Given the description of an element on the screen output the (x, y) to click on. 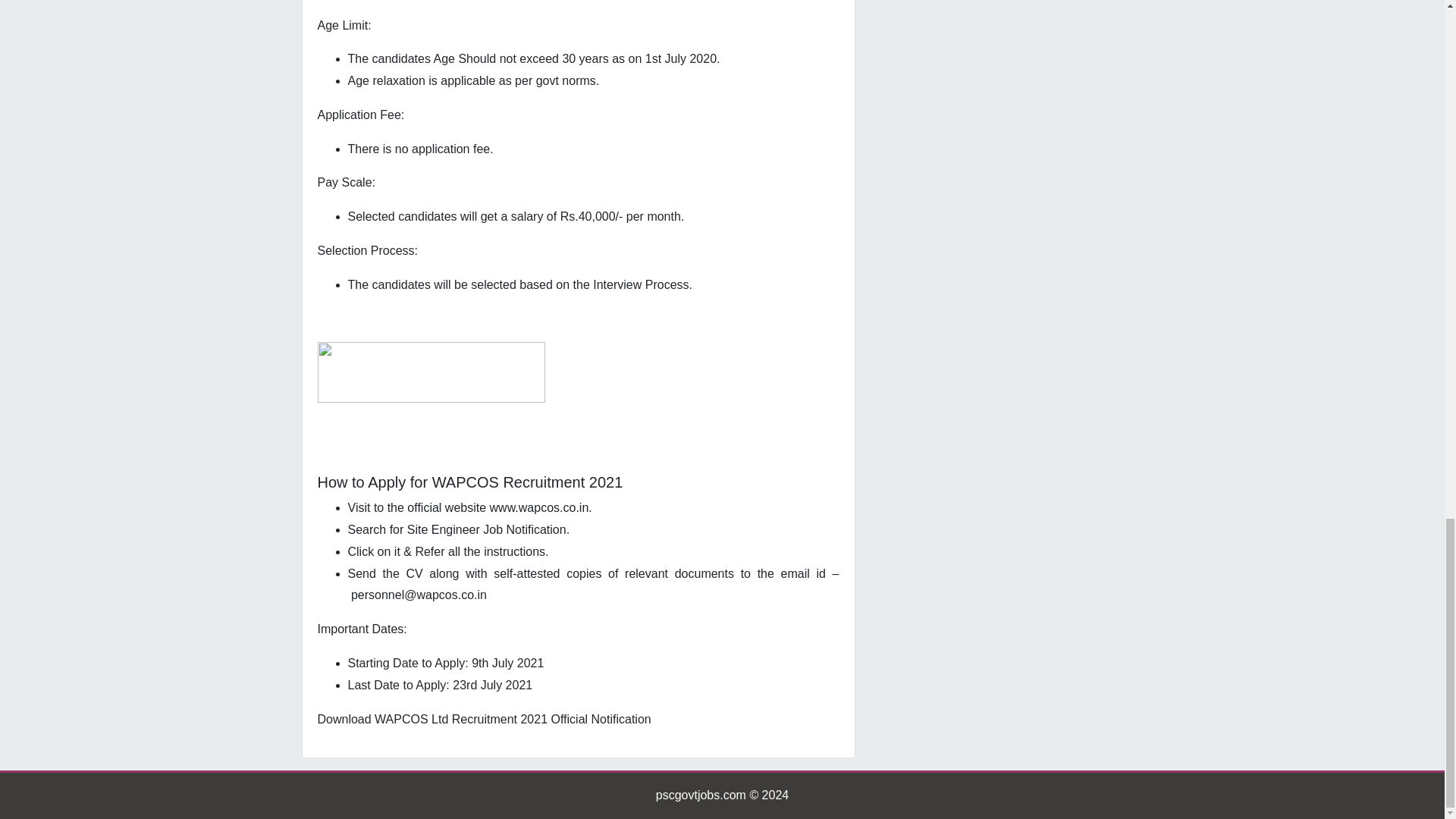
pscgovtjobs.com (700, 794)
